Given the description of an element on the screen output the (x, y) to click on. 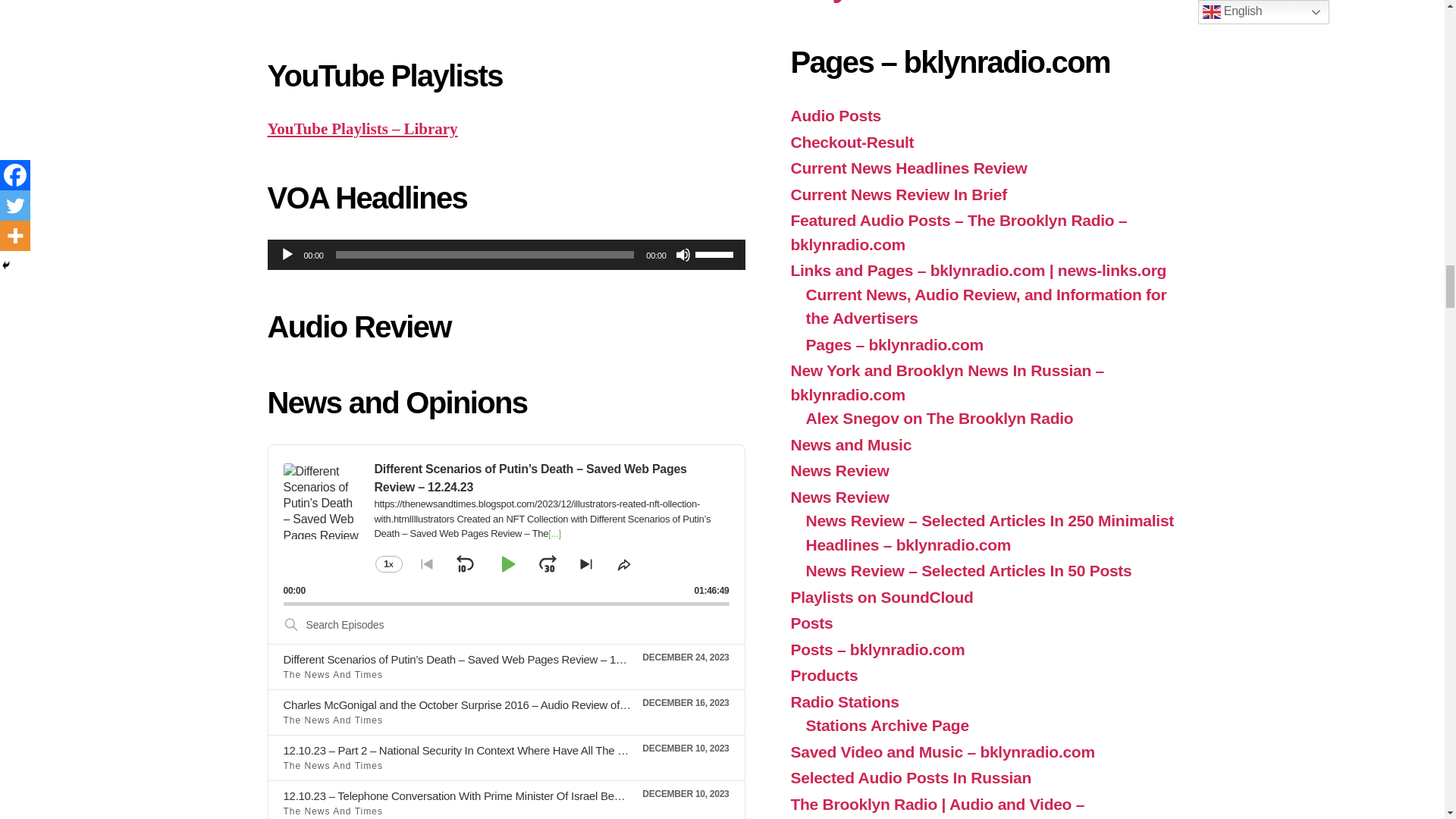
Play (286, 254)
YouTube video player (505, 9)
Mute (682, 254)
